Given the description of an element on the screen output the (x, y) to click on. 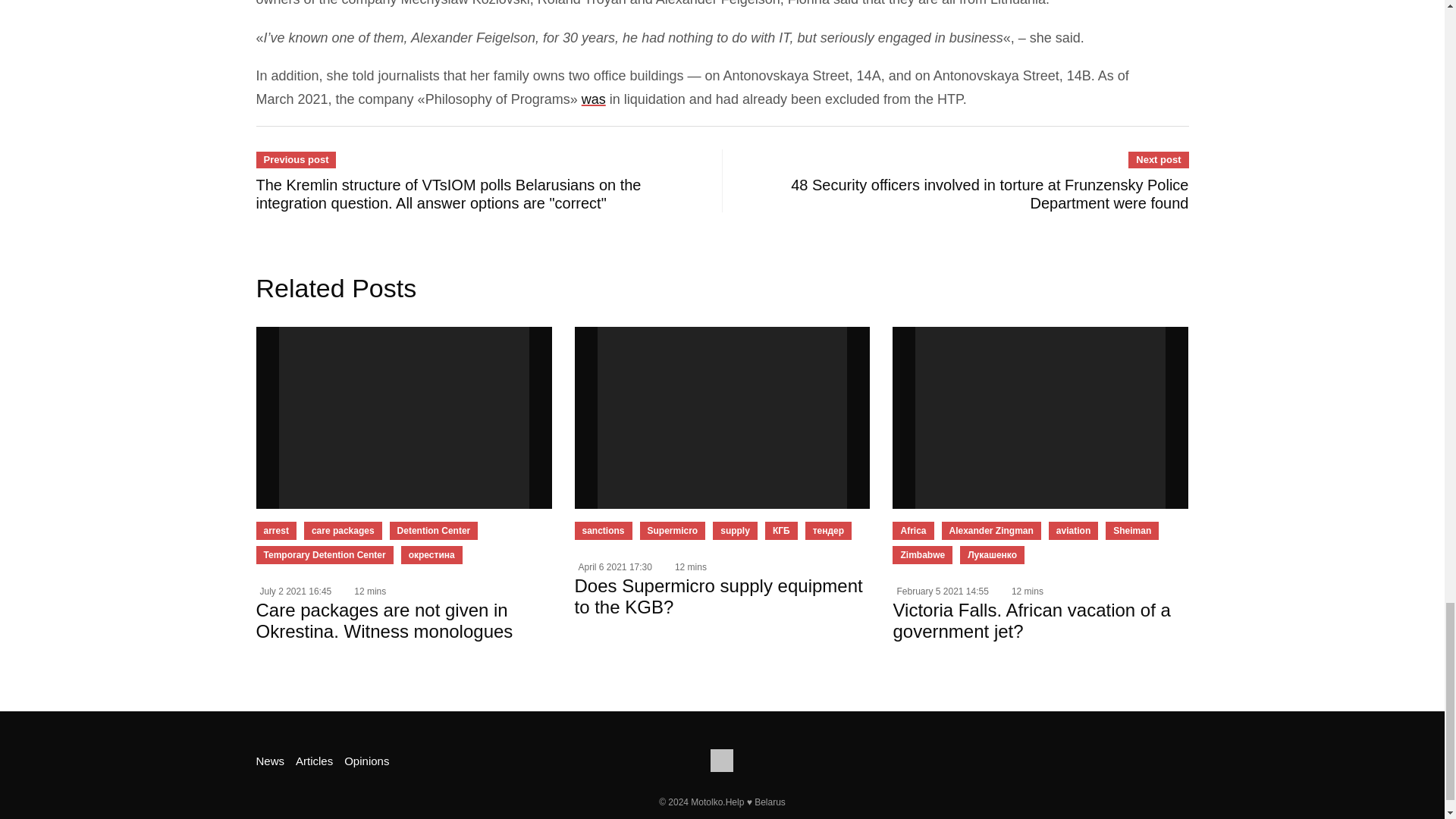
Does Supermicro supply equipment to the KGB? (722, 417)
Care packages are not given in Okrestina. Witness monologues (403, 417)
Victoria Falls. African vacation of a government jet? (1040, 417)
